Given the description of an element on the screen output the (x, y) to click on. 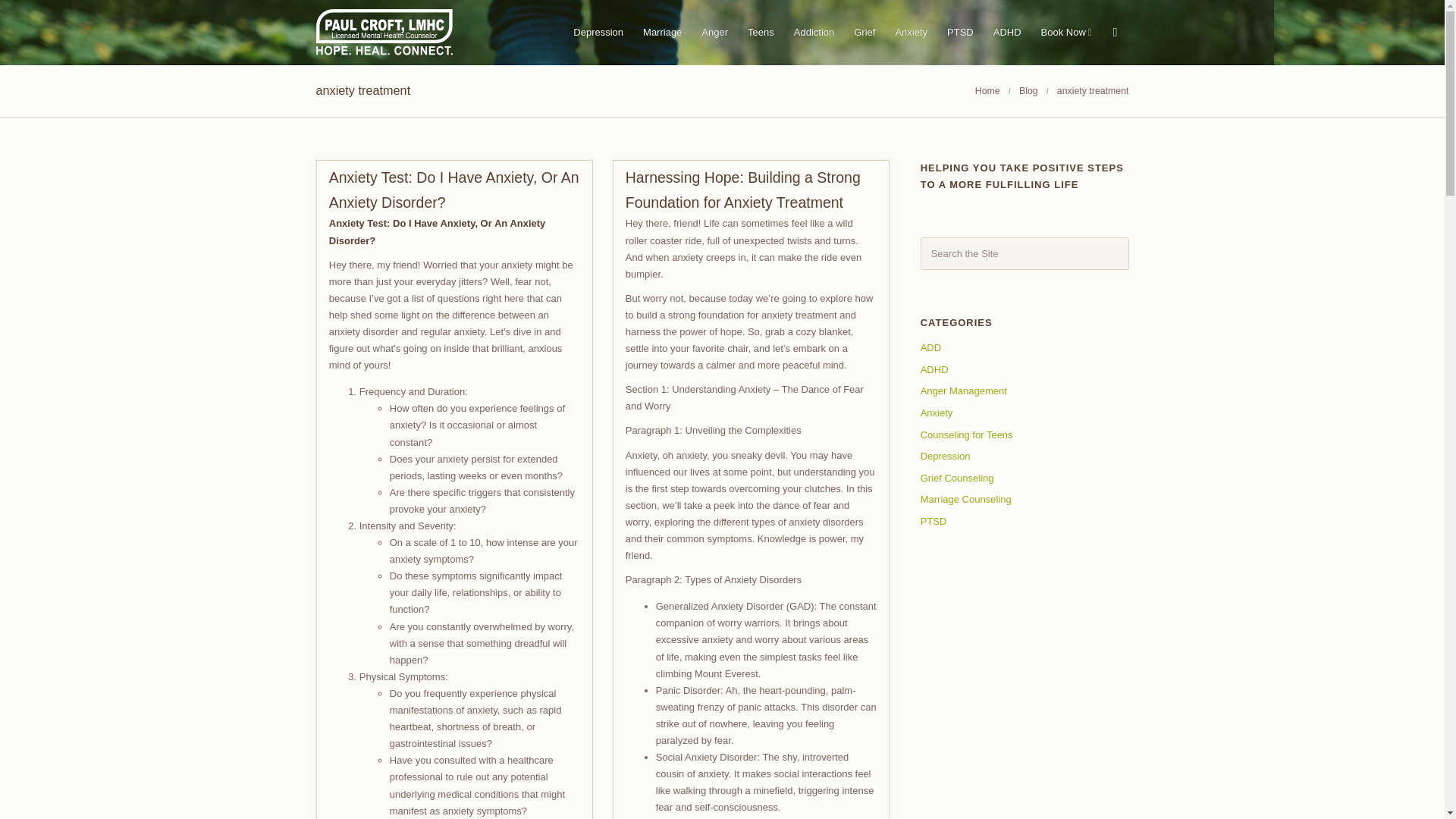
Home (987, 90)
Anxiety Test: Do I Have Anxiety, Or An Anxiety Disorder? (454, 189)
Anxiety (936, 412)
PTSD (933, 521)
Depression (945, 455)
Addiction (814, 32)
Anger Management (963, 390)
ADHD (934, 369)
Blog (1028, 90)
Marriage Counseling (965, 499)
